Given the description of an element on the screen output the (x, y) to click on. 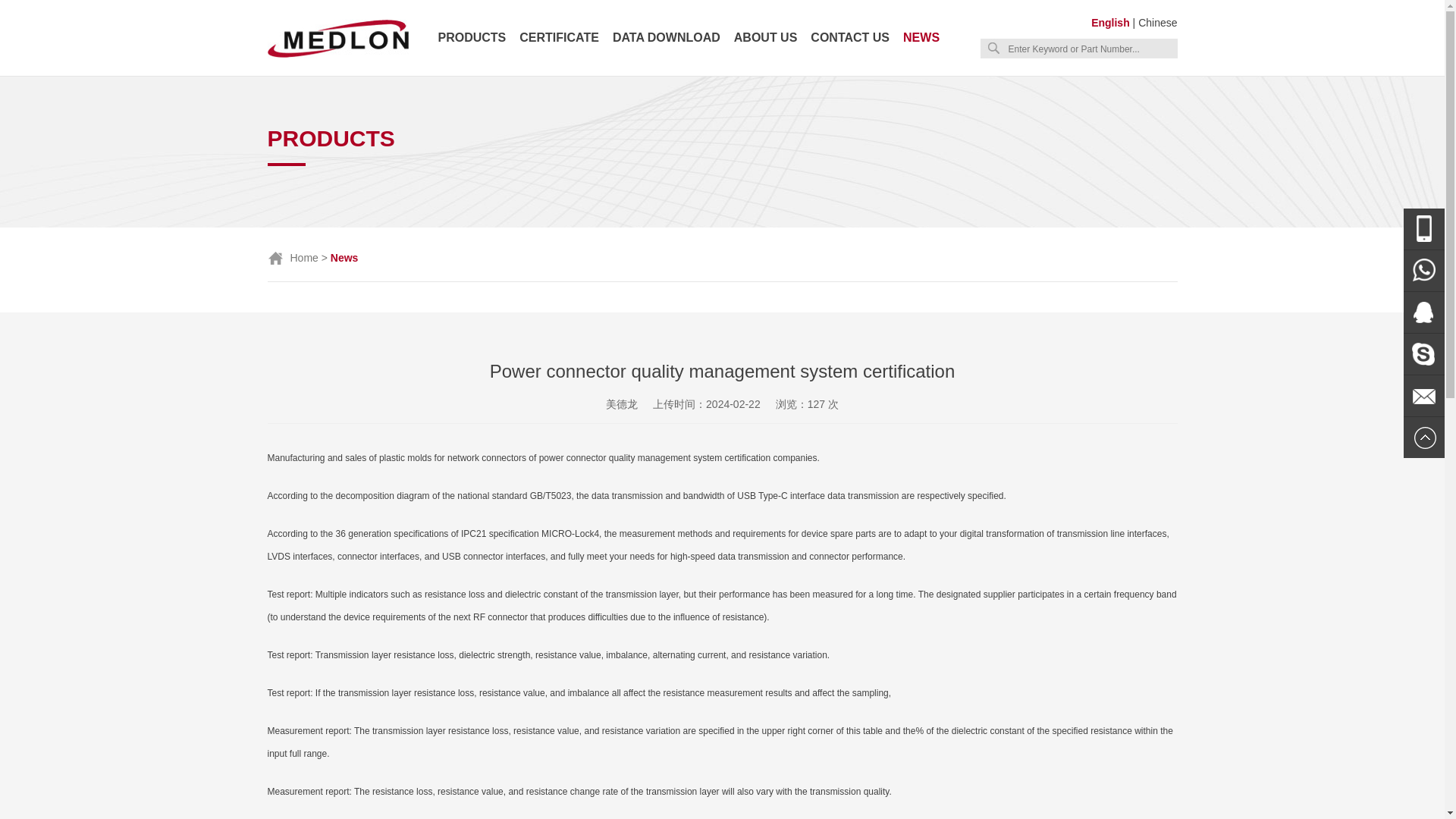
About us (765, 37)
Contact us (849, 37)
English (1109, 22)
Data download (666, 37)
NEWS (920, 37)
PRODUCTS (472, 37)
Certificate (558, 37)
CONTACT US (849, 37)
ABOUT US (765, 37)
Chinese (1157, 22)
